Given the description of an element on the screen output the (x, y) to click on. 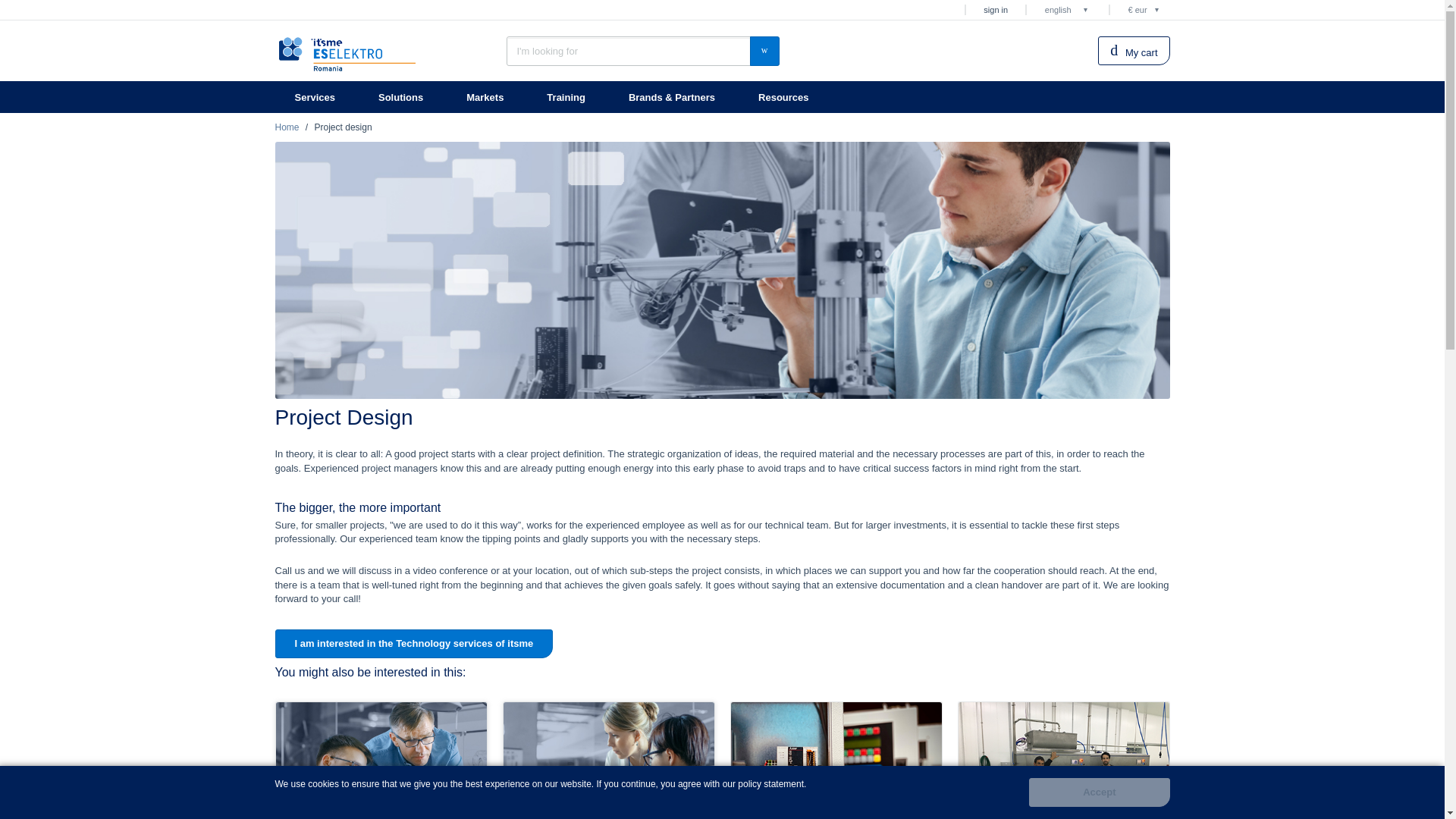
Accept (1099, 792)
Services (316, 97)
sign in (994, 10)
Services (316, 97)
ES Elektro (346, 53)
My cart (1133, 50)
